Given the description of an element on the screen output the (x, y) to click on. 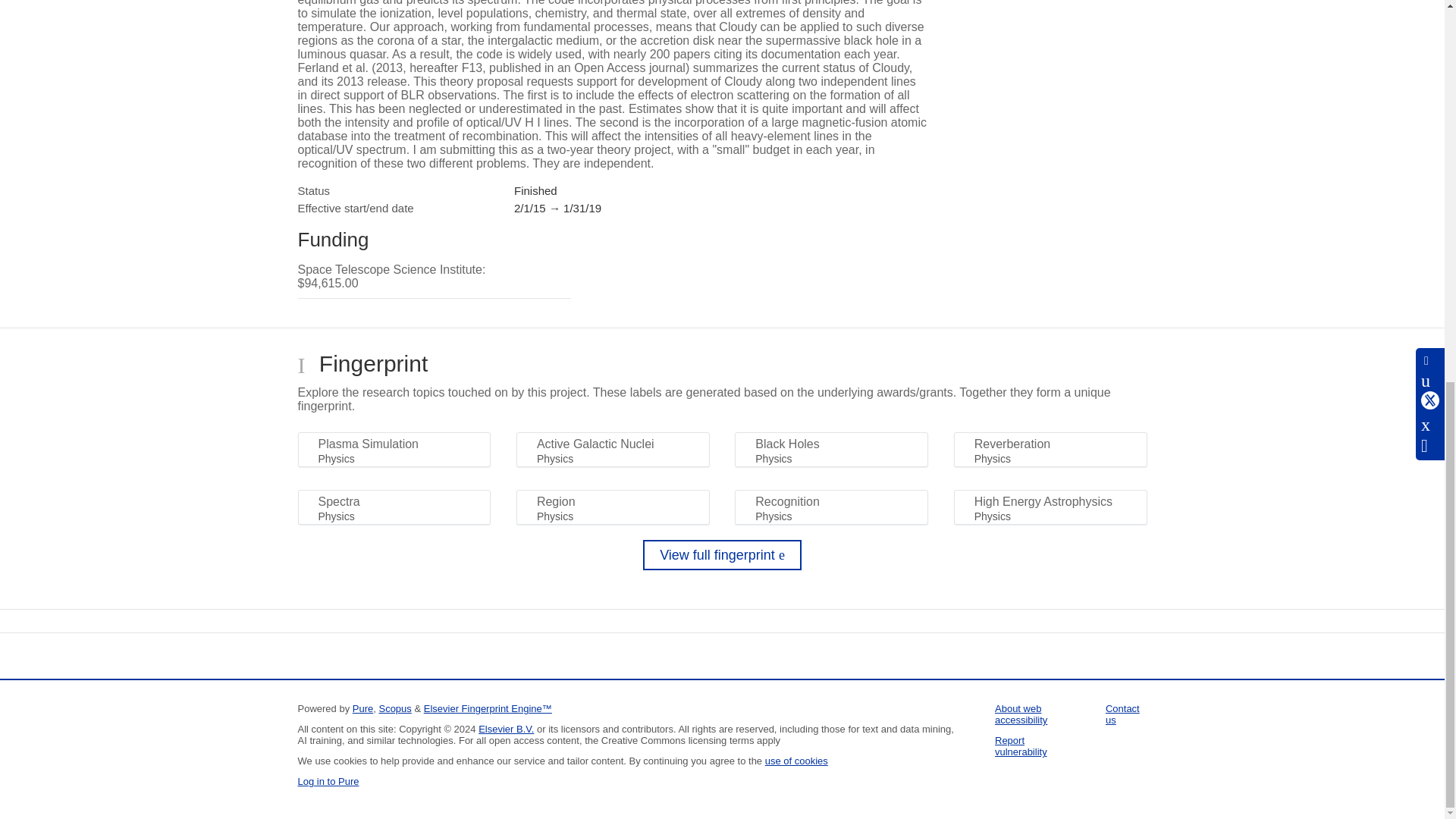
Pure (362, 708)
Scopus (394, 708)
Elsevier B.V. (506, 728)
use of cookies (796, 760)
View full fingerprint (722, 554)
